Given the description of an element on the screen output the (x, y) to click on. 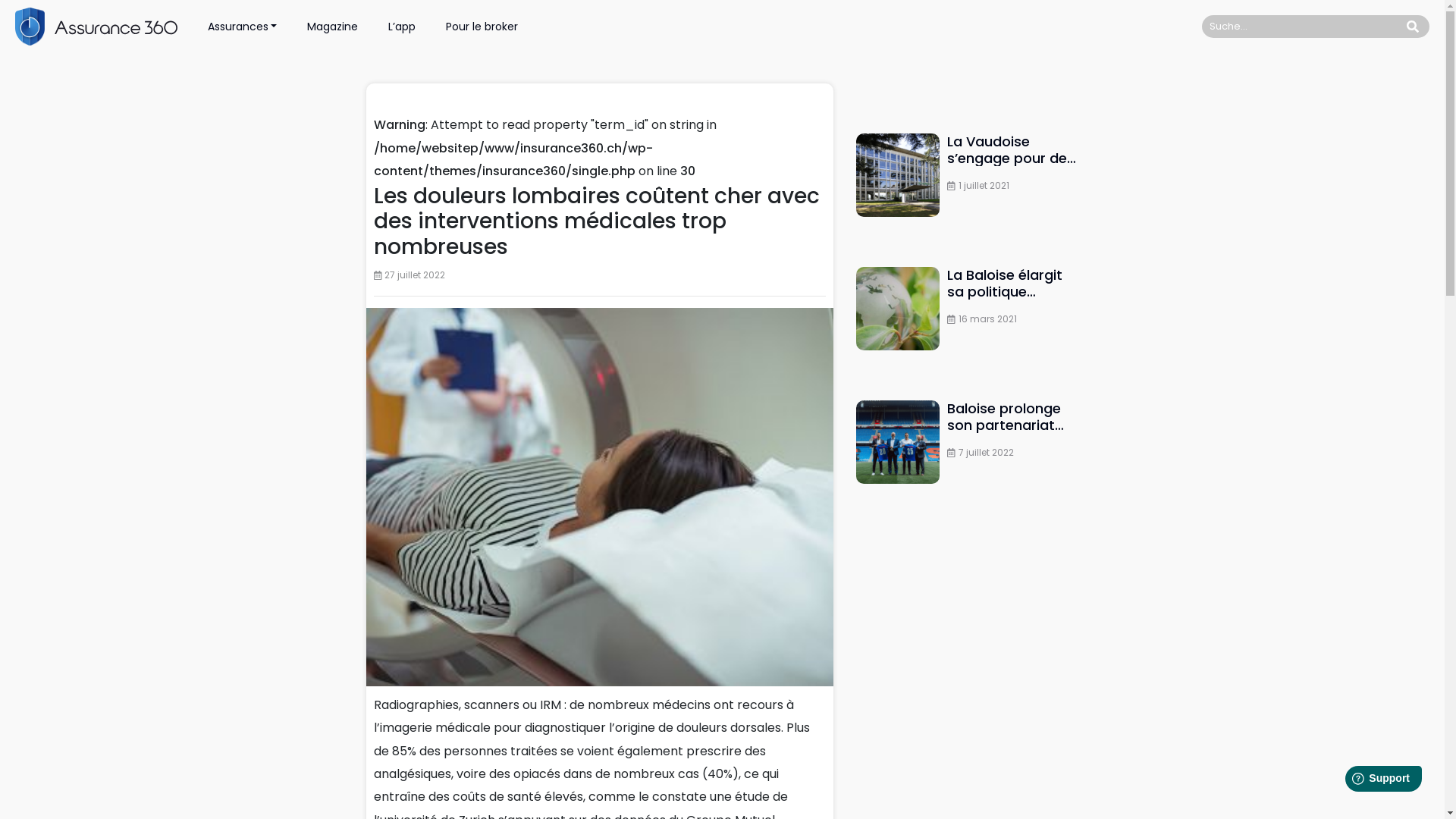
Baloise prolonge son partenariat avec le FC Basel Element type: hover (897, 440)
Assurances Element type: text (242, 26)
Pour le broker Element type: text (481, 26)
Baloise prolonge son partenariat avec le FC Basel Element type: text (967, 416)
Magazine Element type: text (332, 26)
